Given the description of an element on the screen output the (x, y) to click on. 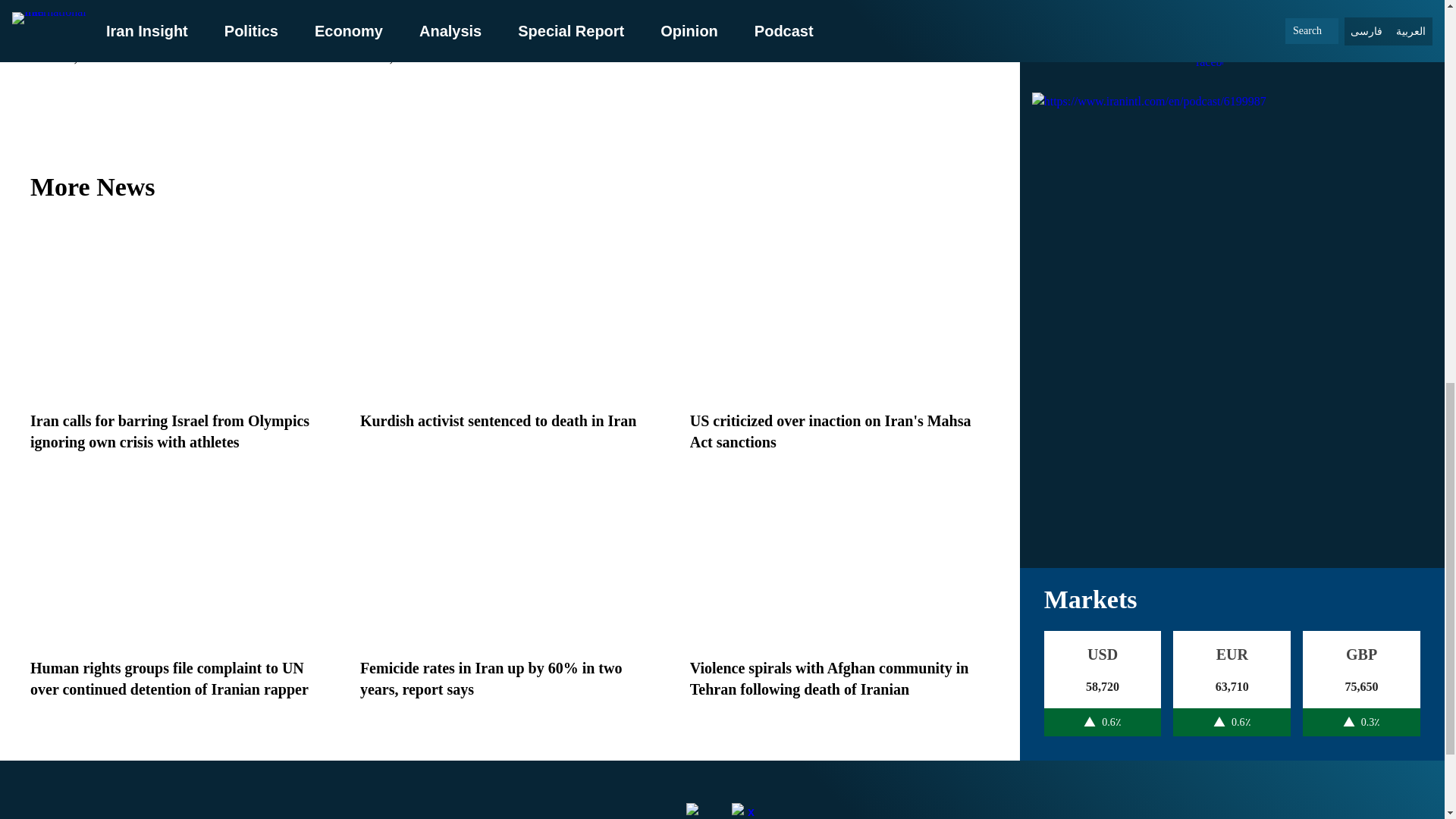
More News (510, 186)
Kurdish activist sentenced to death in Iran (497, 420)
US criticized over inaction on Iran's Mahsa Act sanctions (830, 431)
